Given the description of an element on the screen output the (x, y) to click on. 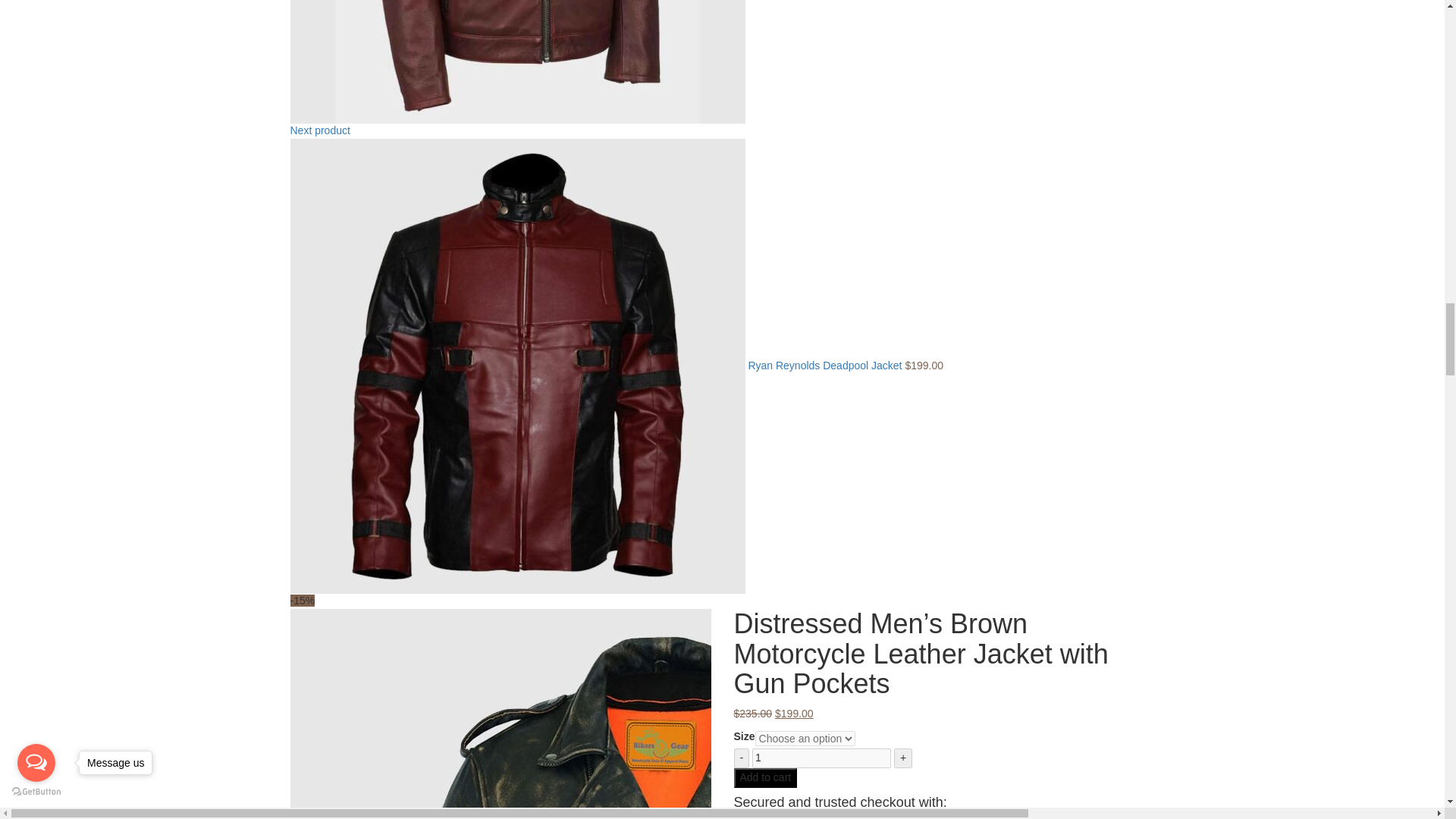
- (741, 758)
Qty (821, 758)
1 (821, 758)
